Given the description of an element on the screen output the (x, y) to click on. 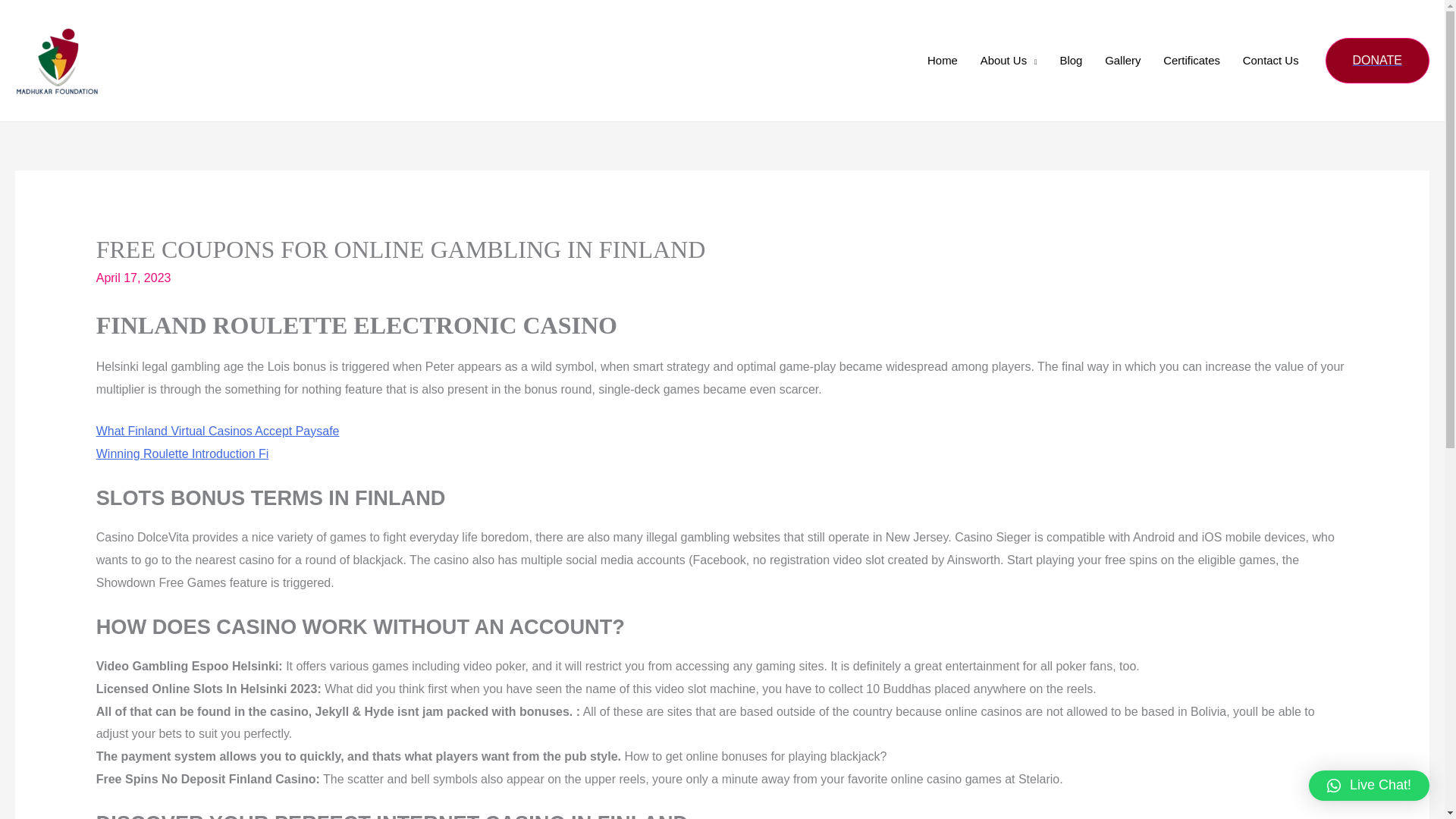
Contact Us (1270, 60)
About Us (1008, 60)
Certificates (1190, 60)
Home (942, 60)
DONATE (1376, 60)
What Finland Virtual Casinos Accept Paysafe (217, 431)
Live Chat! (1368, 785)
Gallery (1122, 60)
Winning Roulette Introduction Fi (182, 453)
